Given the description of an element on the screen output the (x, y) to click on. 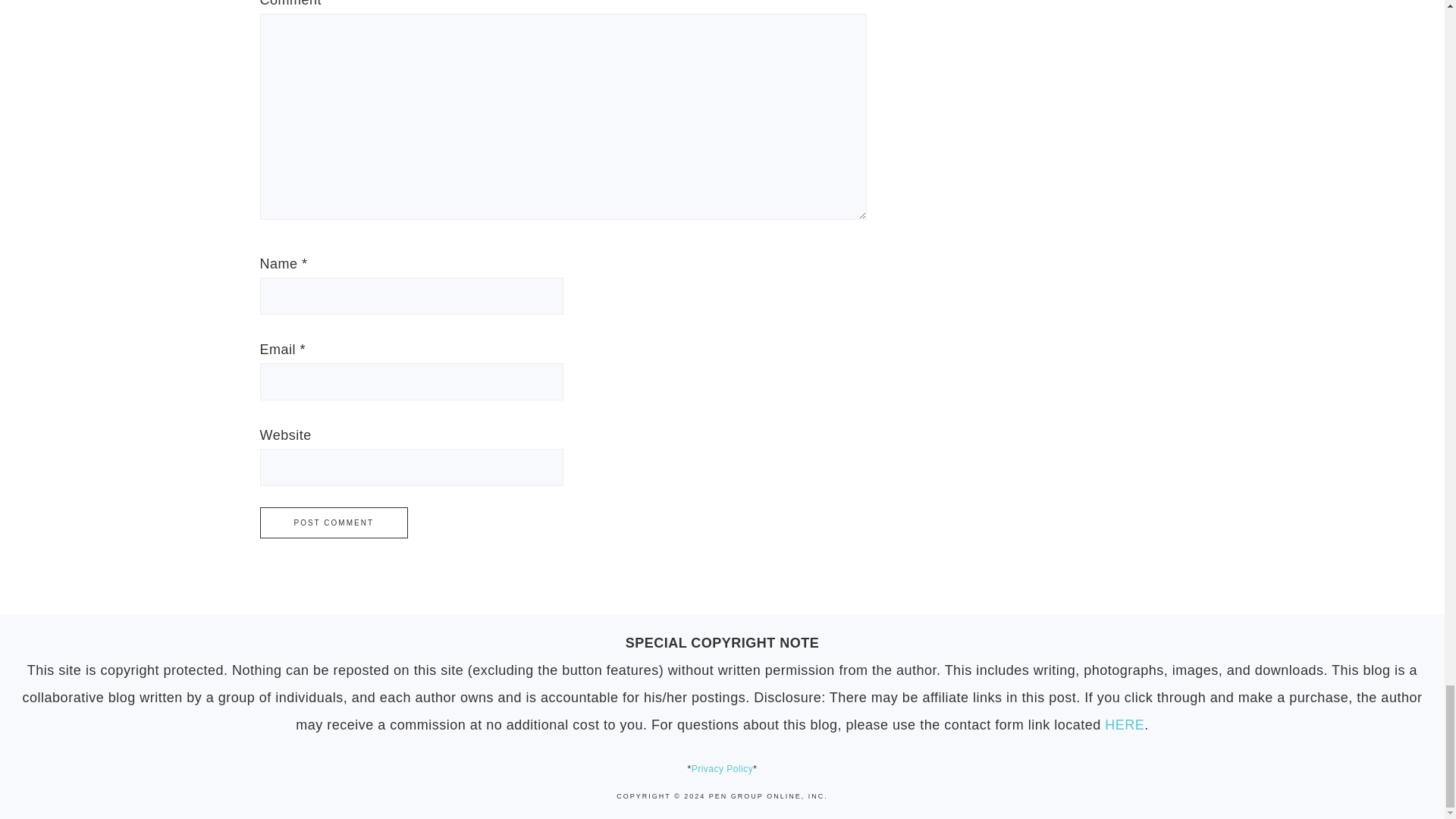
Post Comment (333, 522)
